Given the description of an element on the screen output the (x, y) to click on. 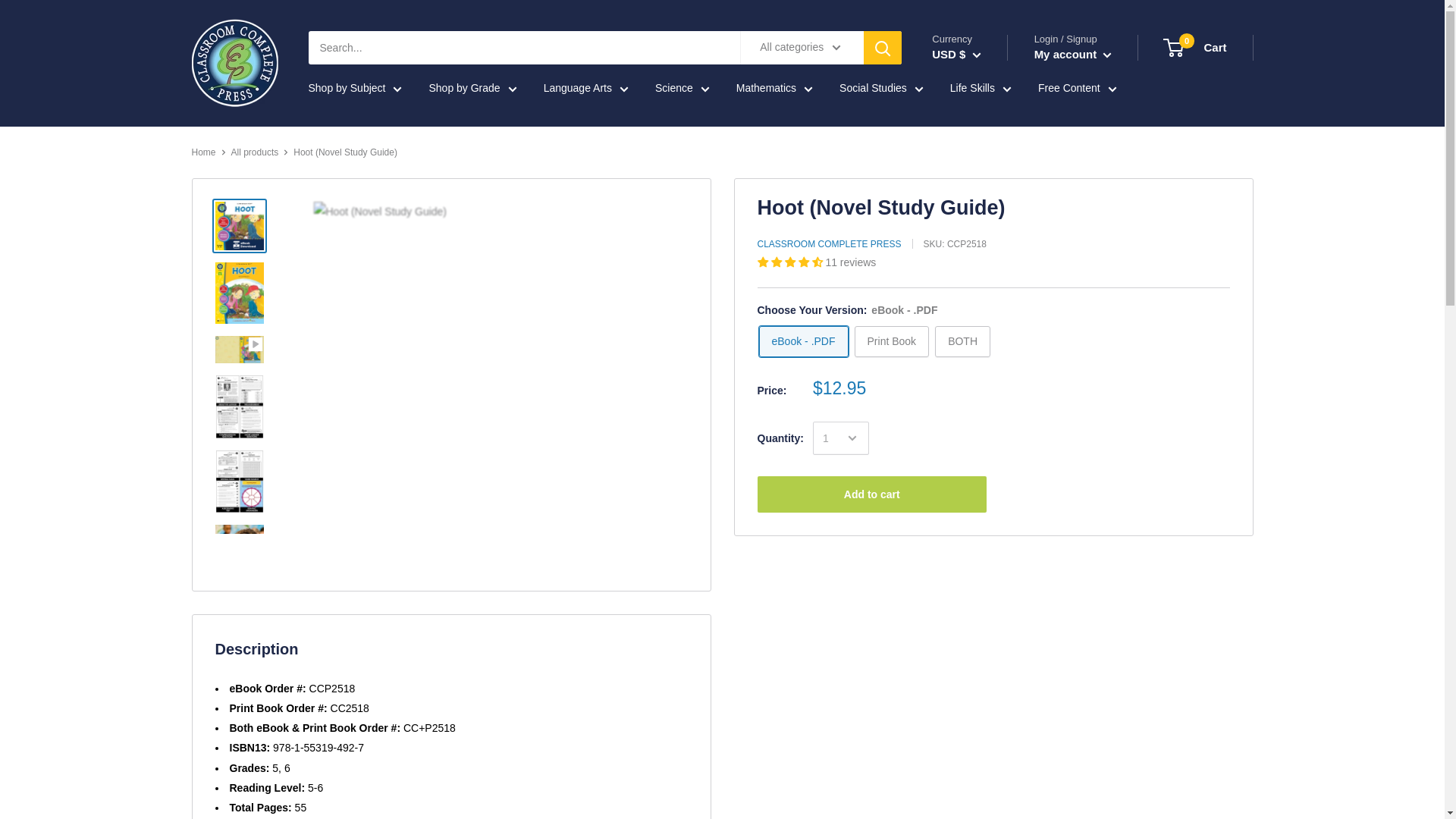
CAD (968, 92)
eBook - .PDF (802, 341)
BOTH (962, 341)
Print Book (892, 341)
My account (1072, 54)
USD (1194, 47)
